Given the description of an element on the screen output the (x, y) to click on. 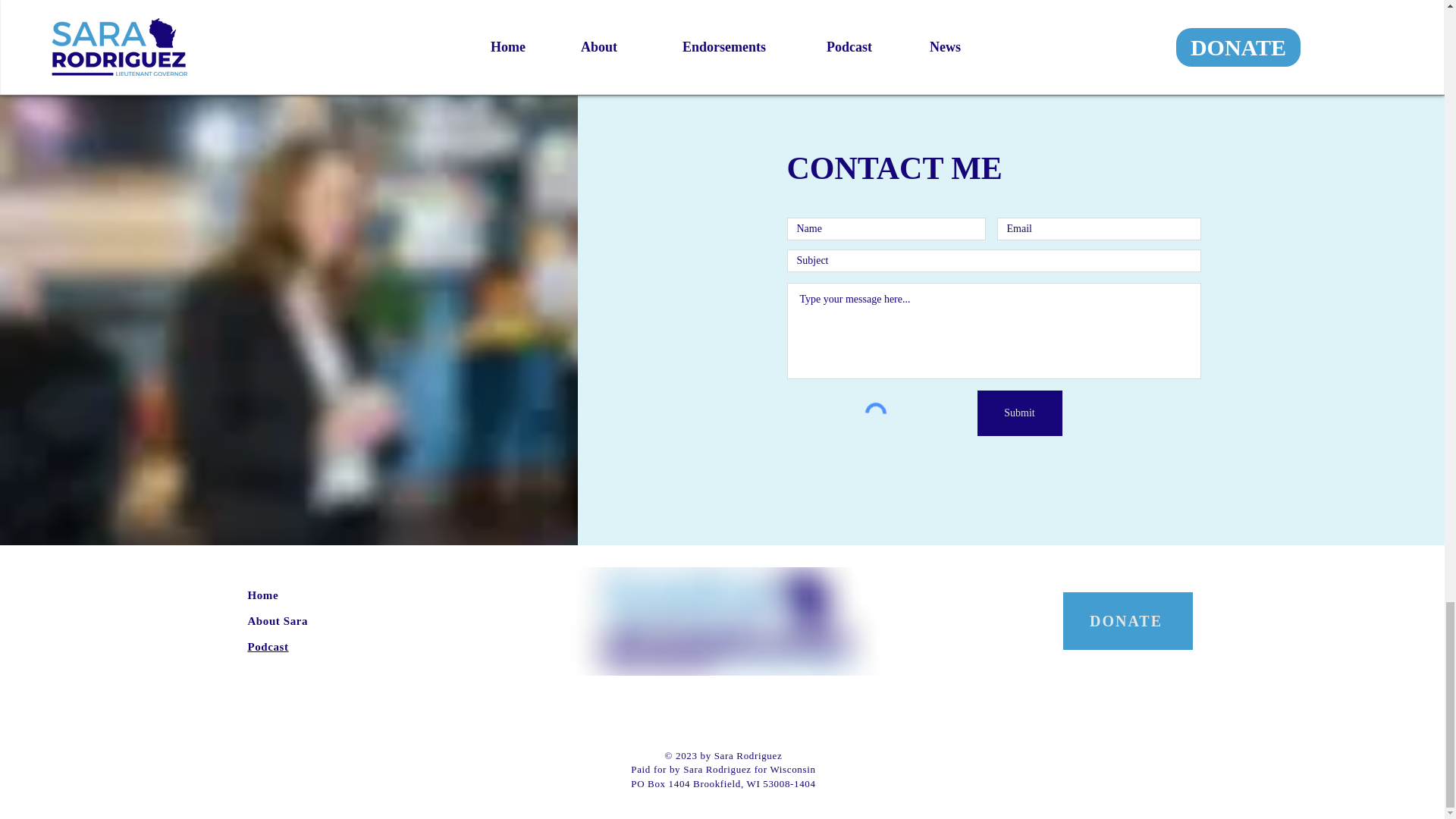
Submit (1018, 412)
About Sara (277, 620)
Home (262, 594)
DONATE (1127, 621)
Podcast (267, 645)
DONATE (1065, 42)
